Given the description of an element on the screen output the (x, y) to click on. 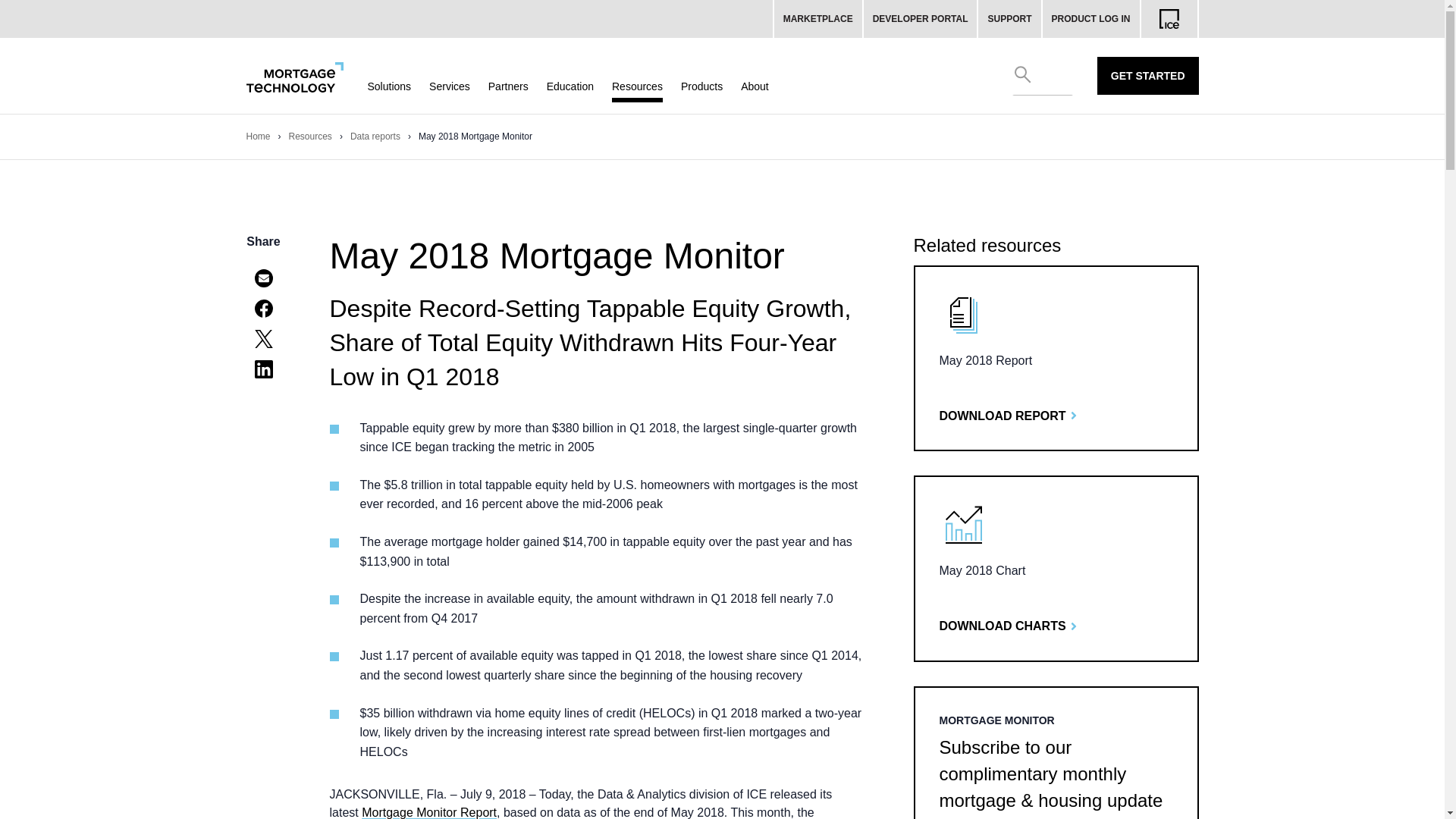
MARKETPLACE (818, 18)
PRODUCT LOG IN (1091, 18)
ICE Mortgage Technology's Facebook (263, 308)
SUPPORT (1010, 18)
Partners (507, 86)
ICE Mortgage Technology's LinkedIn (263, 368)
ICE Mortgage Technology's Twitter (263, 338)
Solutions (388, 86)
DEVELOPER PORTAL (920, 18)
Services (449, 86)
